Given the description of an element on the screen output the (x, y) to click on. 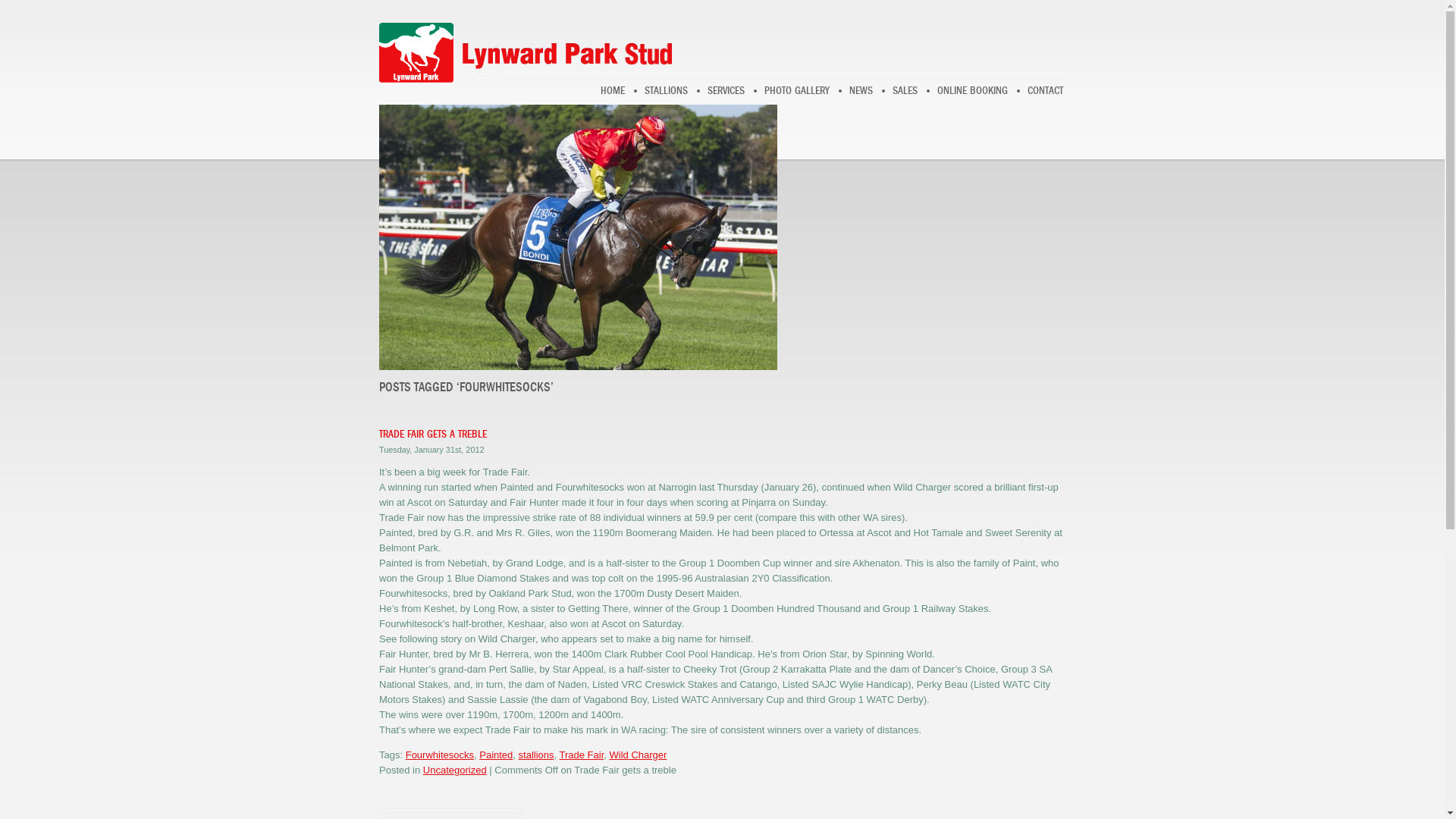
Fourwhitesocks Element type: text (439, 754)
SALES Element type: text (904, 90)
Painted Element type: text (495, 754)
HOME Element type: text (612, 90)
PHOTO GALLERY Element type: text (796, 90)
ONLINE BOOKING Element type: text (972, 90)
Trade Fair Element type: text (581, 754)
stallions Element type: text (536, 754)
SERVICES Element type: text (725, 90)
STALLIONS Element type: text (665, 90)
Uncategorized Element type: text (454, 769)
CONTACT Element type: text (1045, 90)
TRADE FAIR GETS A TREBLE Element type: text (432, 433)
NEWS Element type: text (860, 90)
Wild Charger Element type: text (638, 754)
